Given the description of an element on the screen output the (x, y) to click on. 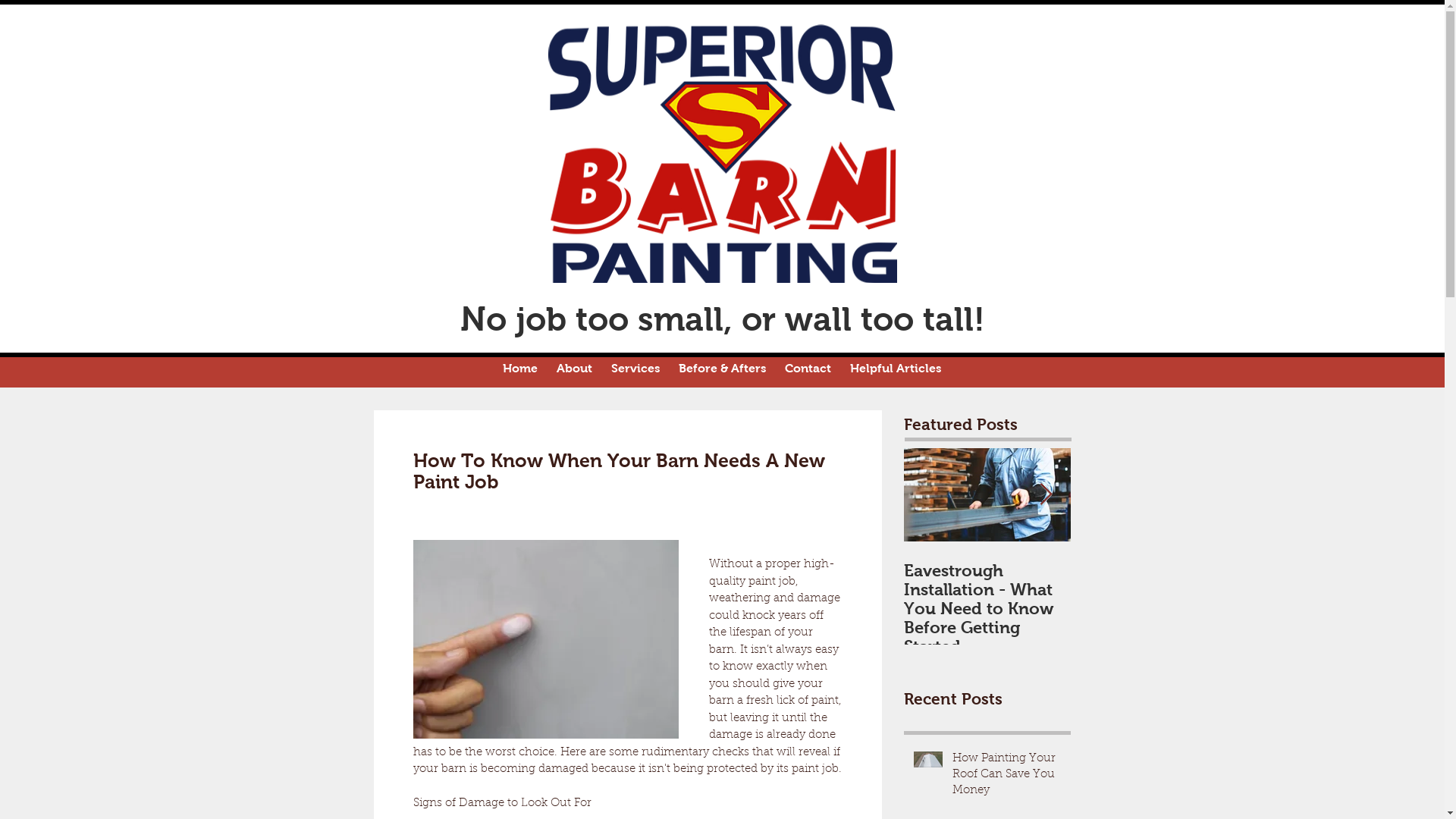
How To Know When Your Barn Needs A New Paint Job Element type: text (1320, 589)
Services Element type: text (635, 367)
Helpful Articles Element type: text (895, 367)
About Element type: text (574, 367)
How Painting Your Roof Can Save You Money Element type: text (1006, 777)
A Beginners Guide to Barn Roof Painting Element type: text (1153, 589)
Home Element type: text (519, 367)
Before & Afters Element type: text (721, 367)
Contact Element type: text (807, 367)
